Given the description of an element on the screen output the (x, y) to click on. 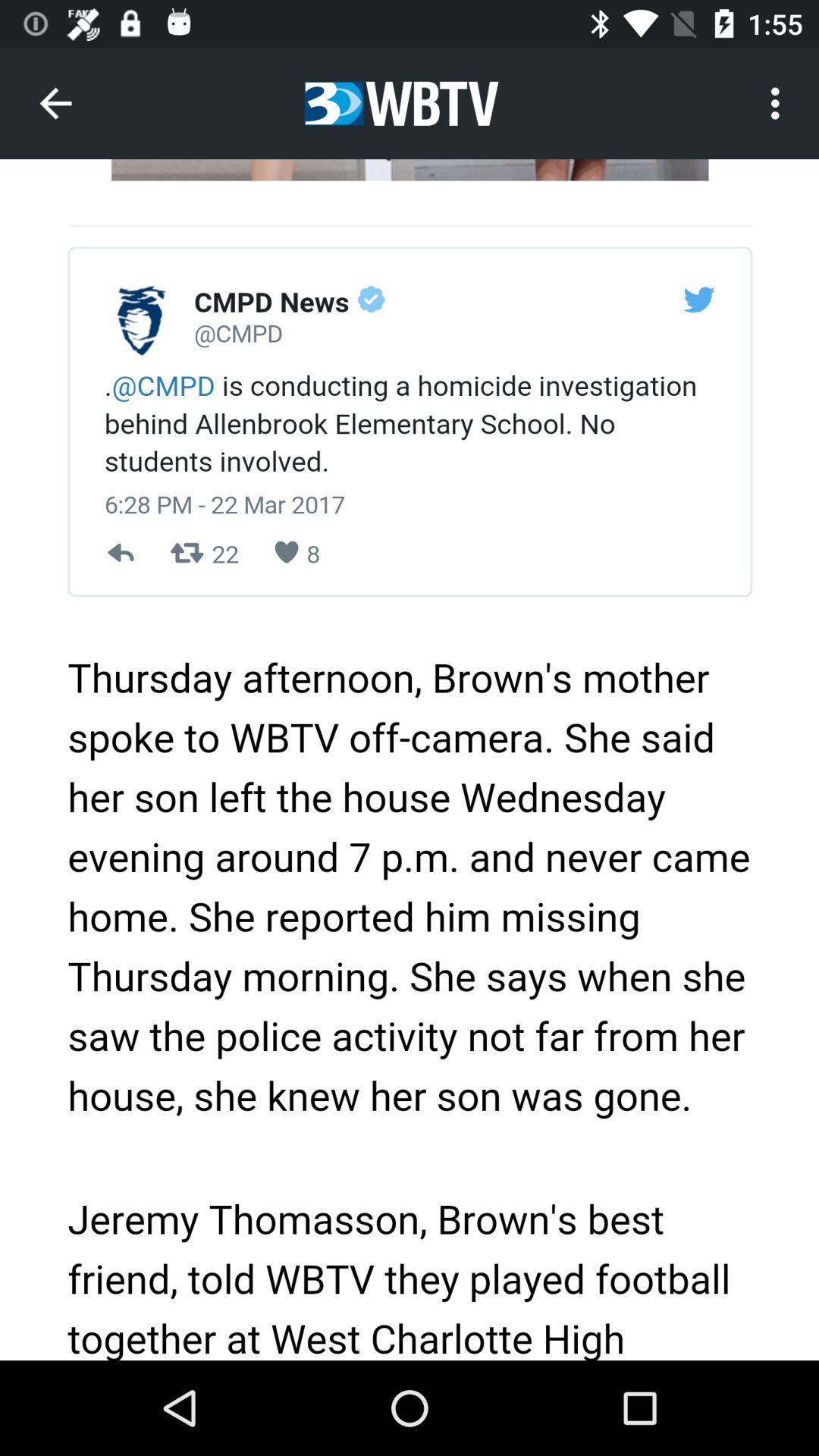
colour pinter (409, 759)
